Given the description of an element on the screen output the (x, y) to click on. 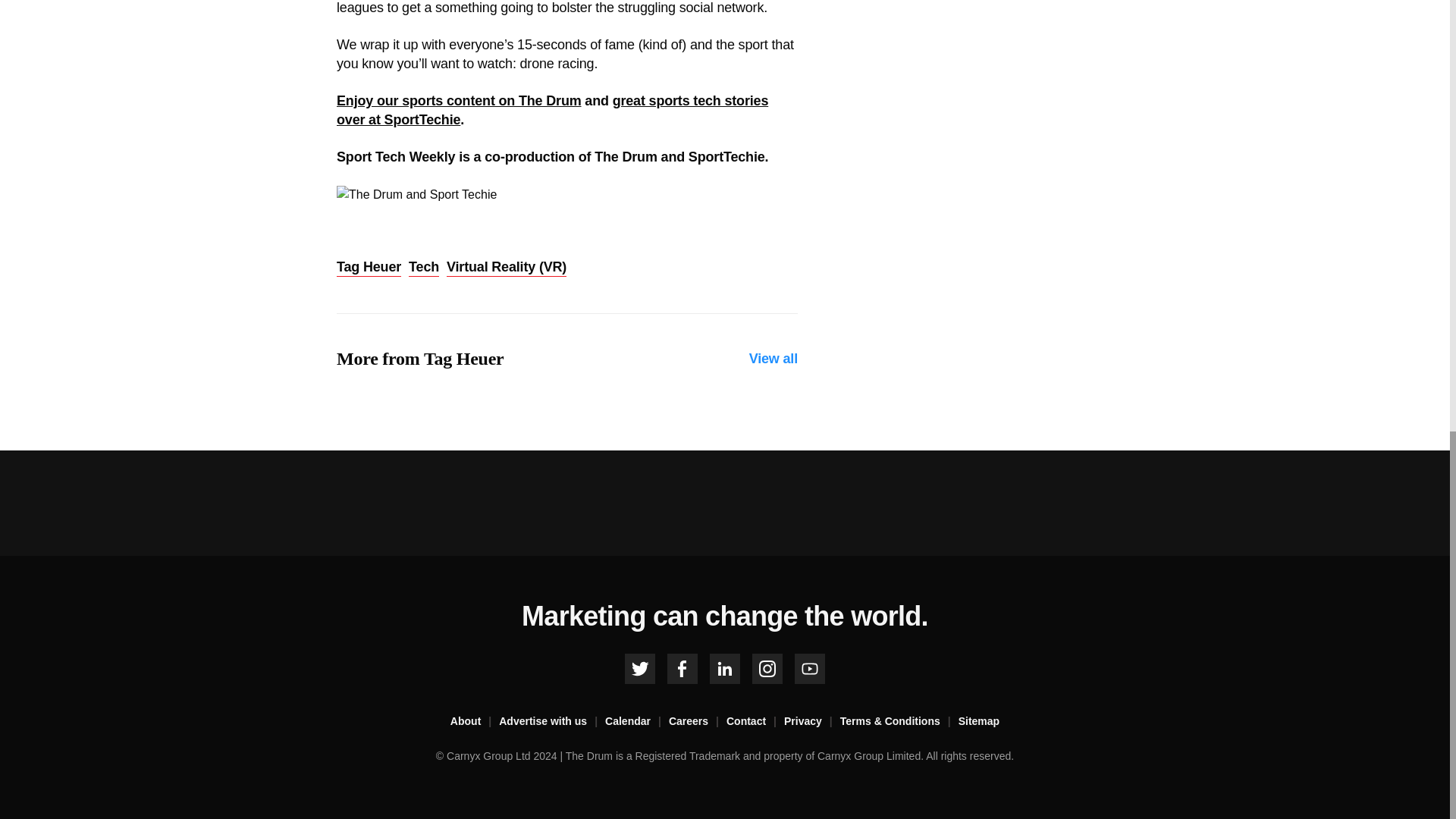
Calendar (636, 721)
Careers (697, 721)
Enjoy our sports content on The Drum (458, 100)
Tech (424, 267)
great sports tech stories over at SportTechie (552, 110)
Advertise with us (552, 721)
Tag Heuer (368, 267)
The Drum and Sport Techie (416, 194)
Contact (755, 721)
About (474, 721)
